Given the description of an element on the screen output the (x, y) to click on. 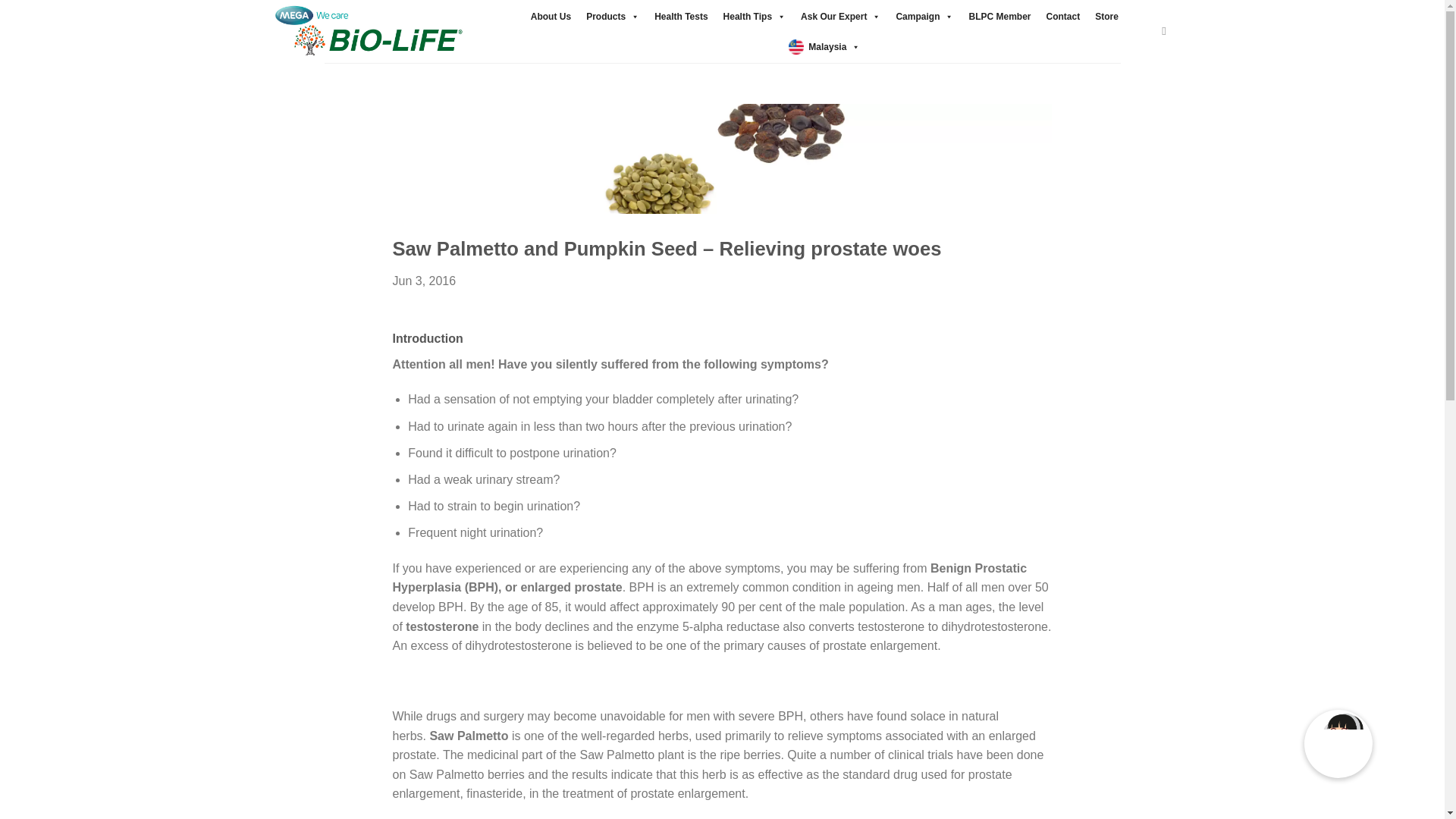
Health Tips (754, 16)
About Us (550, 16)
Products (612, 16)
BiO-LiFE - We care for Your Wellness (367, 31)
Health Tests (680, 16)
